Given the description of an element on the screen output the (x, y) to click on. 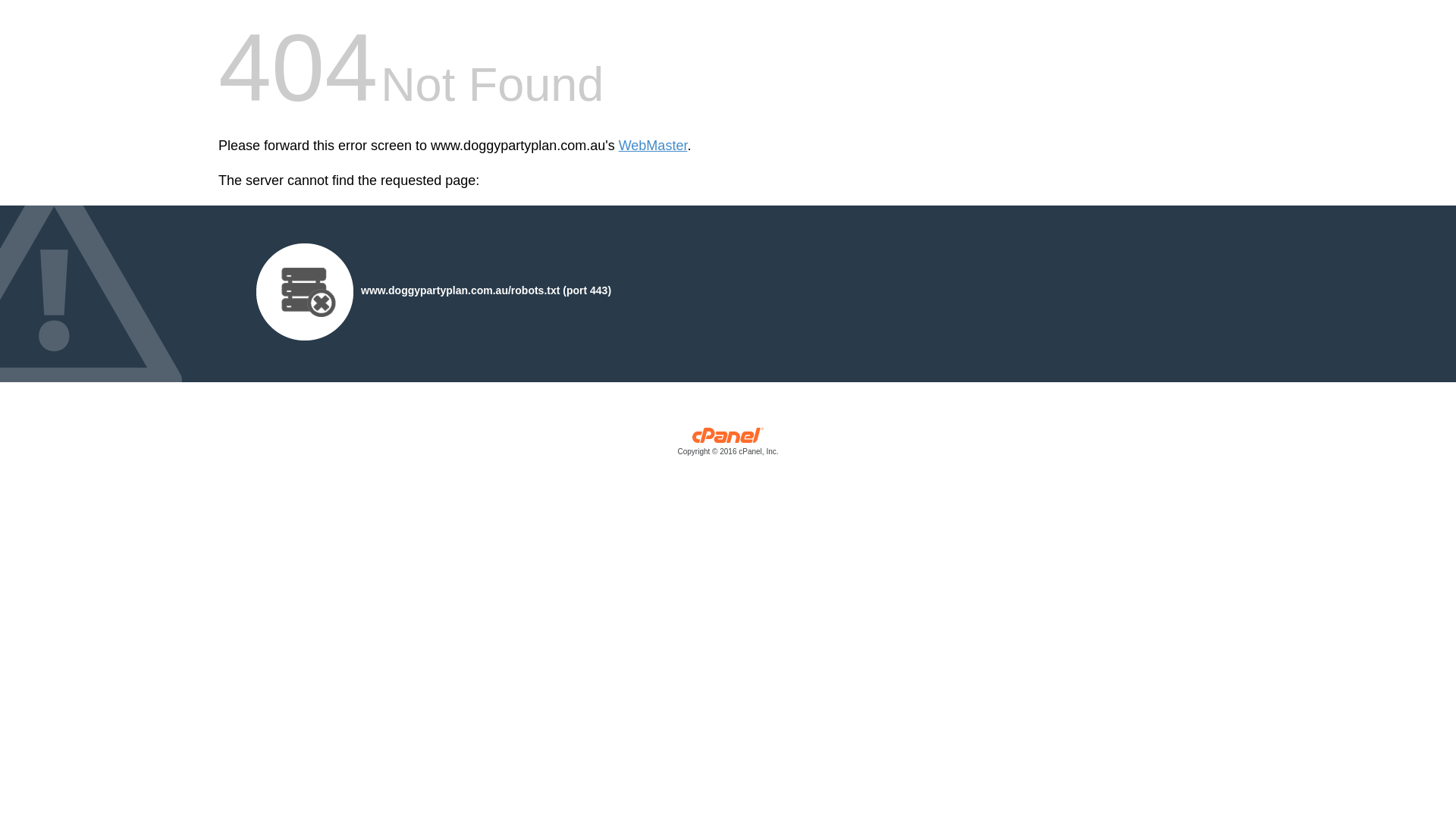
WebMaster Element type: text (652, 145)
